Given the description of an element on the screen output the (x, y) to click on. 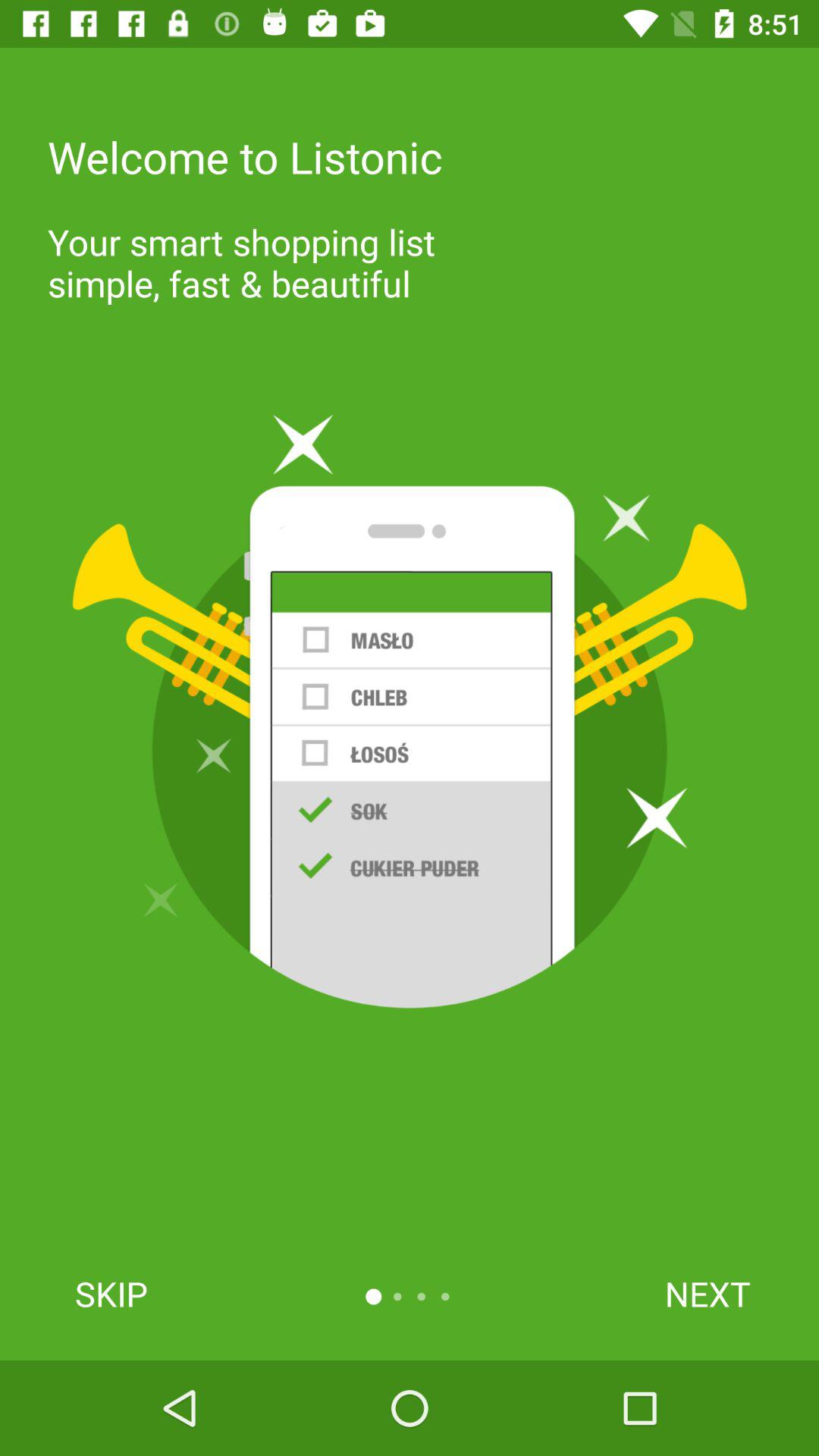
click the item at the center (409, 711)
